Given the description of an element on the screen output the (x, y) to click on. 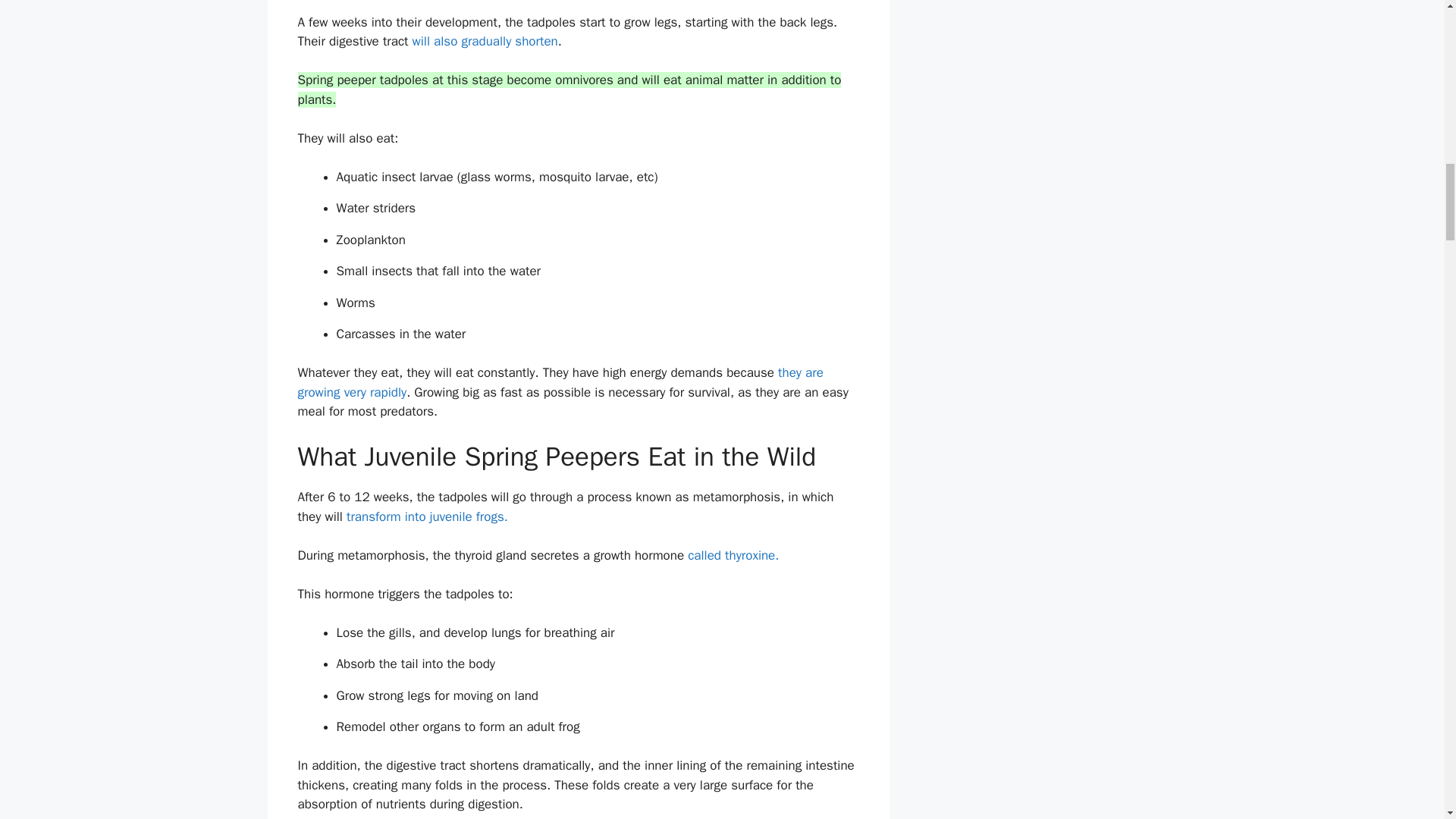
 will also gradually shorten (482, 41)
 they are growing very rapidly (559, 382)
 called thyroxine. (731, 555)
transform into juvenile frogs. (427, 516)
